Given the description of an element on the screen output the (x, y) to click on. 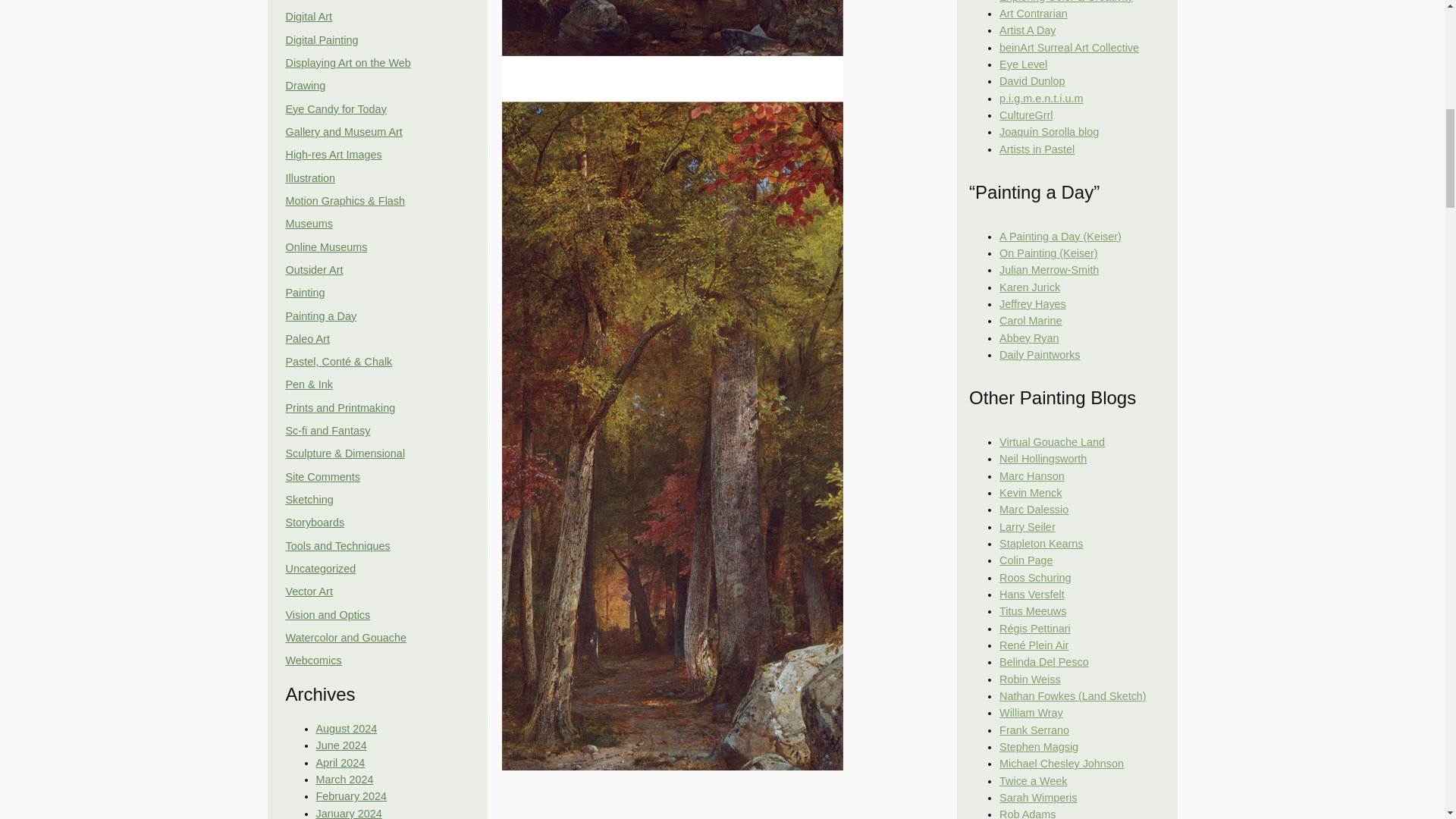
Site Comments (322, 476)
Prints and Printmaking (339, 408)
Outsider Art (313, 269)
Paleo Art (307, 338)
Illustration (309, 177)
Painting a Day (320, 315)
Displaying Art on the Web (347, 62)
Online Museums (325, 246)
Sc-fi and Fantasy (327, 430)
High-res Art Images (333, 154)
